Given the description of an element on the screen output the (x, y) to click on. 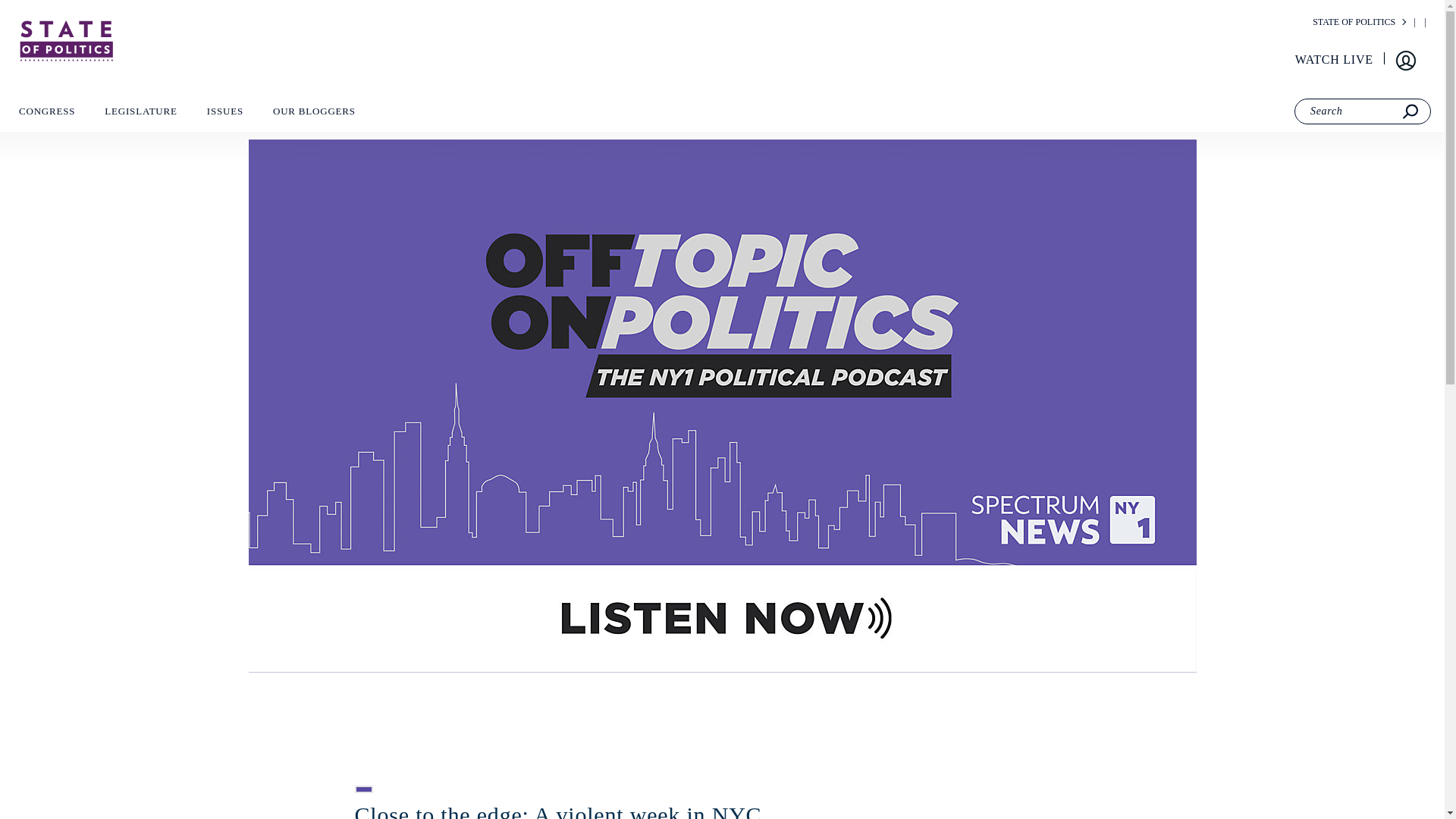
STATE OF POLITICS (1353, 21)
LEGISLATURE (140, 115)
WATCH LIVE (1334, 59)
CONGRESS (46, 115)
ISSUES (224, 115)
OUR BLOGGERS (313, 115)
